Given the description of an element on the screen output the (x, y) to click on. 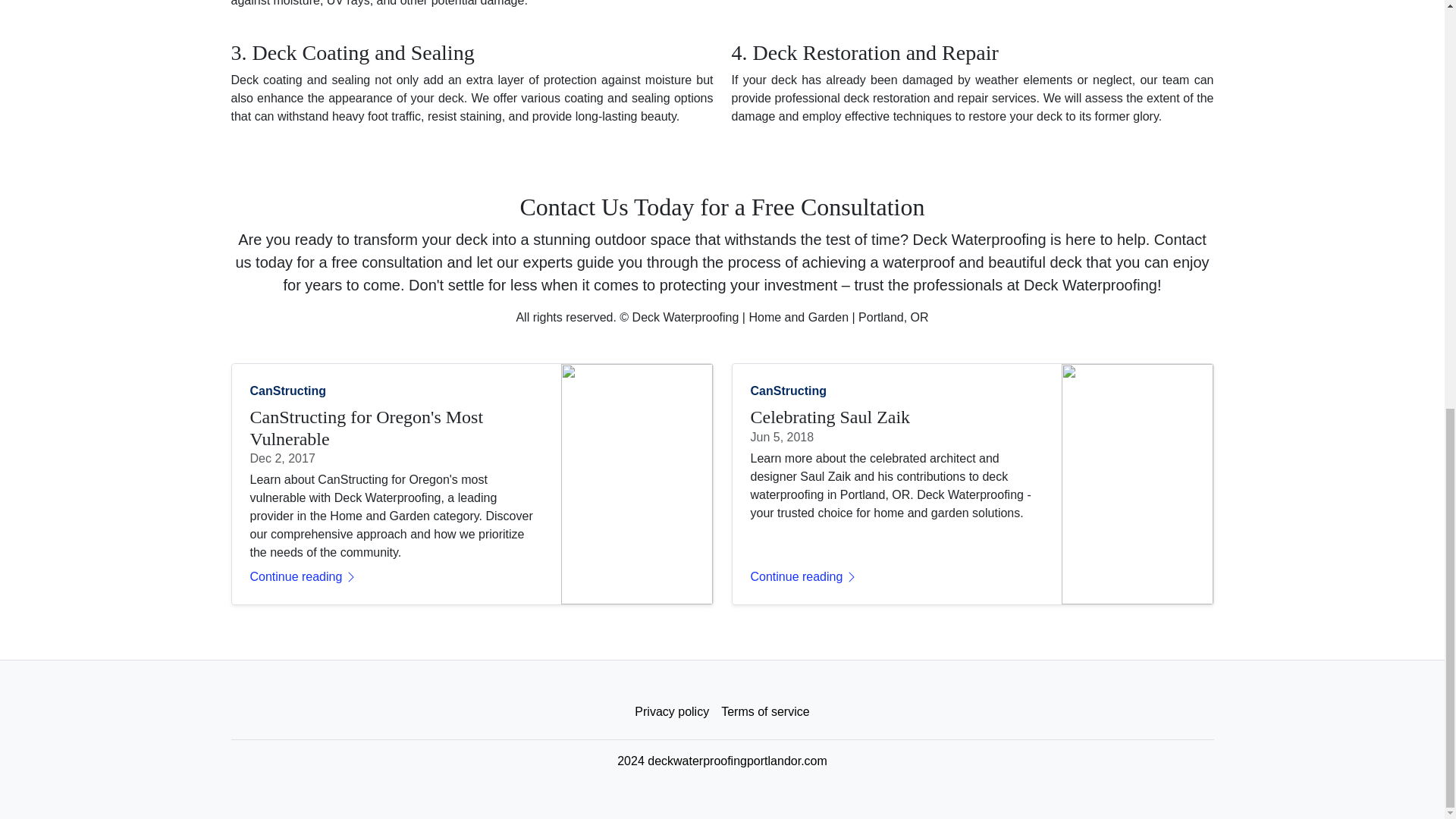
Privacy policy (671, 711)
Continue reading (897, 577)
Continue reading (396, 577)
Terms of service (764, 711)
